Given the description of an element on the screen output the (x, y) to click on. 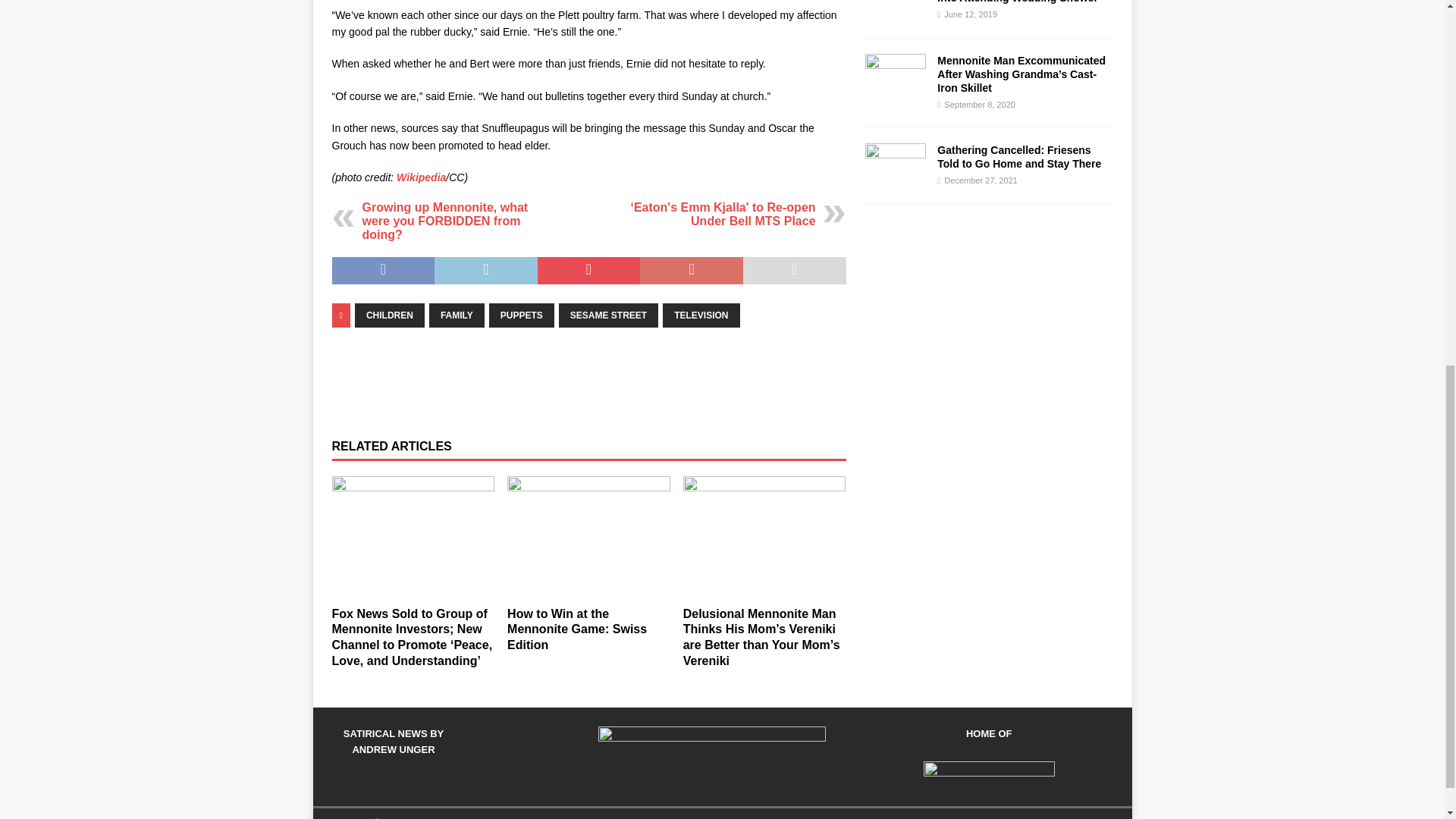
PUPPETS (521, 315)
TELEVISION (700, 315)
Growing up Mennonite, what were you FORBIDDEN from doing? (445, 220)
How to Win at the Mennonite Game: Swiss Edition (576, 629)
How to Win at the Mennonite Game: Swiss Edition (587, 536)
Wikipedia (420, 177)
How to Win at the Mennonite Game: Swiss Edition (576, 629)
FAMILY (456, 315)
CHILDREN (390, 315)
SESAME STREET (608, 315)
